Given the description of an element on the screen output the (x, y) to click on. 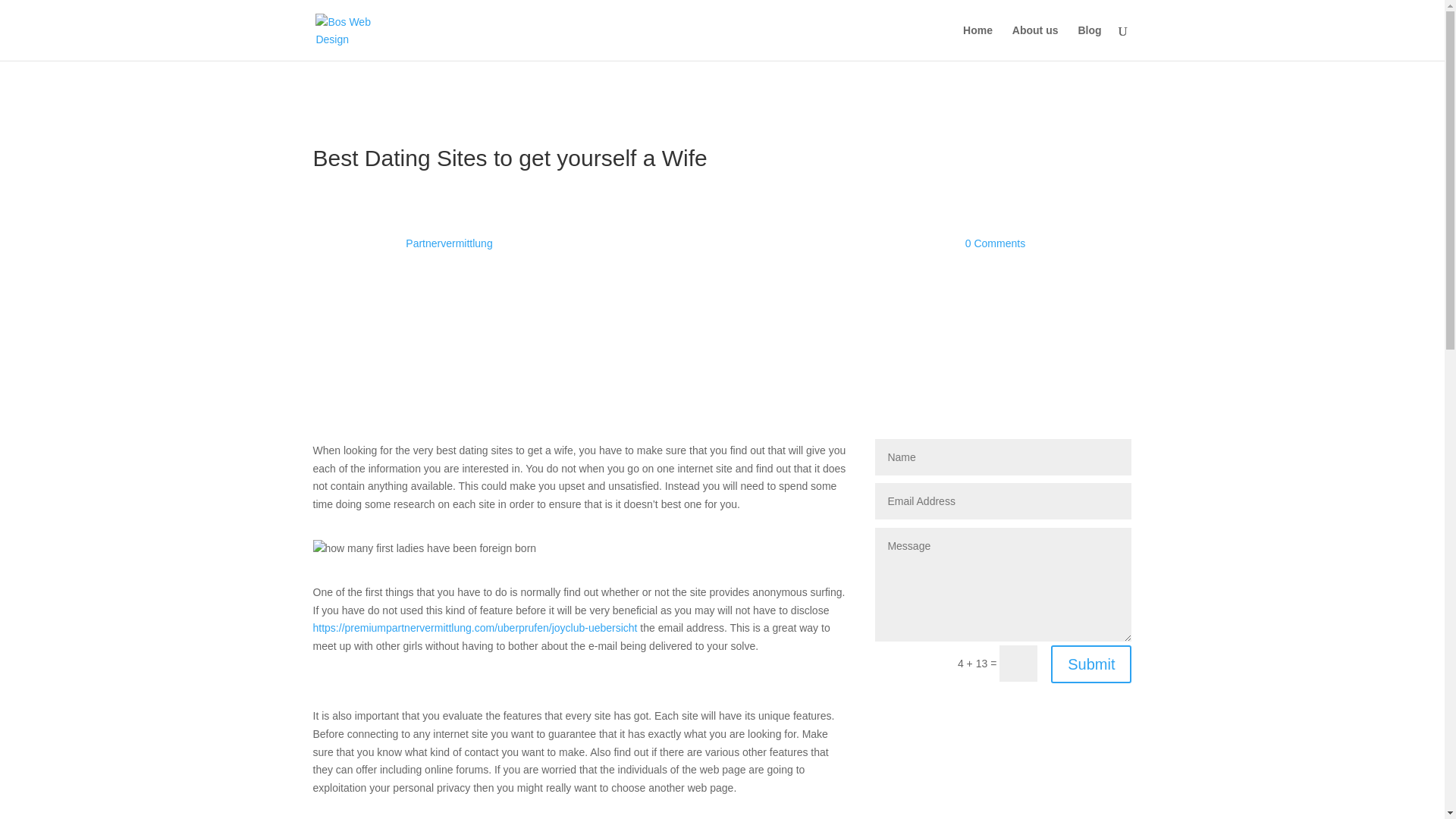
0 Comments (995, 243)
About us (1034, 42)
Partnervermittlung (449, 243)
Submit (1091, 664)
